Given the description of an element on the screen output the (x, y) to click on. 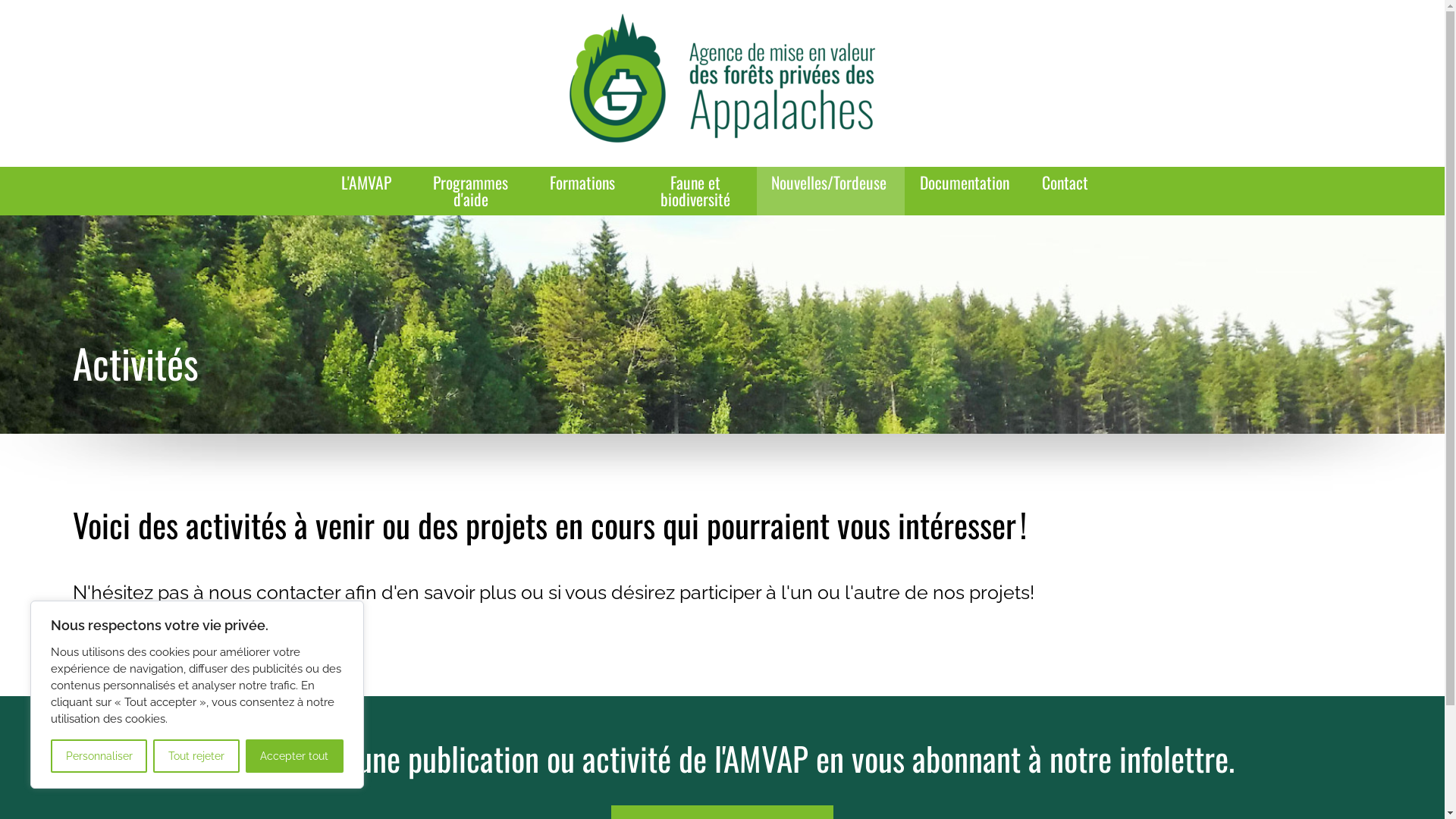
L'AMVAP Element type: text (367, 182)
Documentation Element type: text (965, 182)
Nouvelles/Tordeuse Element type: text (830, 182)
Accepter tout Element type: text (294, 755)
Tout rejeter Element type: text (195, 755)
Personnaliser Element type: text (98, 755)
Contact Element type: text (1064, 182)
Programmes d'aide Element type: text (472, 190)
Formations Element type: text (584, 182)
